Given the description of an element on the screen output the (x, y) to click on. 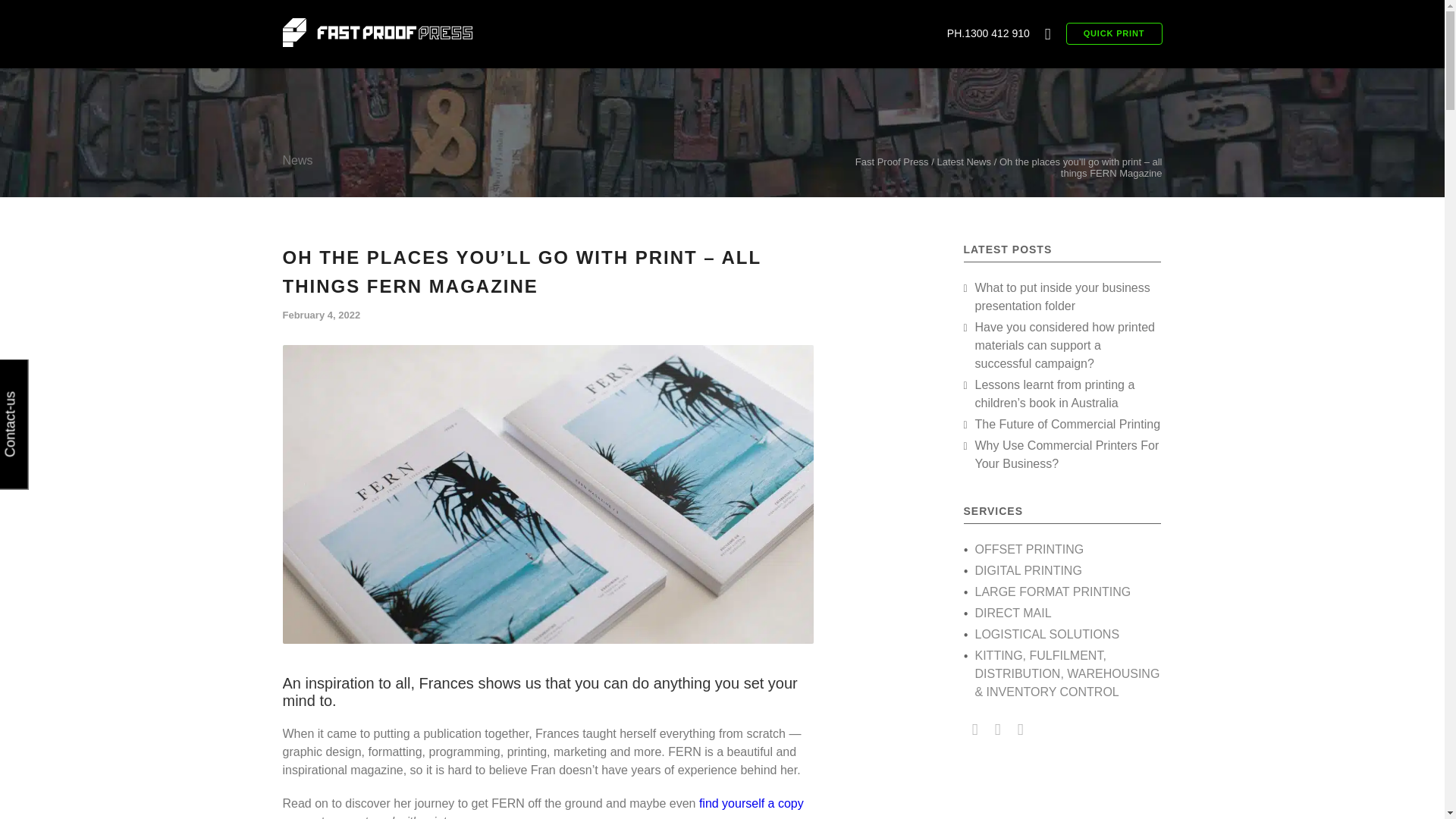
1300 412 910 (996, 33)
QUICK PRINT (1113, 22)
LinkedIn (1019, 729)
Instagram (997, 729)
Facebook (973, 729)
